Given the description of an element on the screen output the (x, y) to click on. 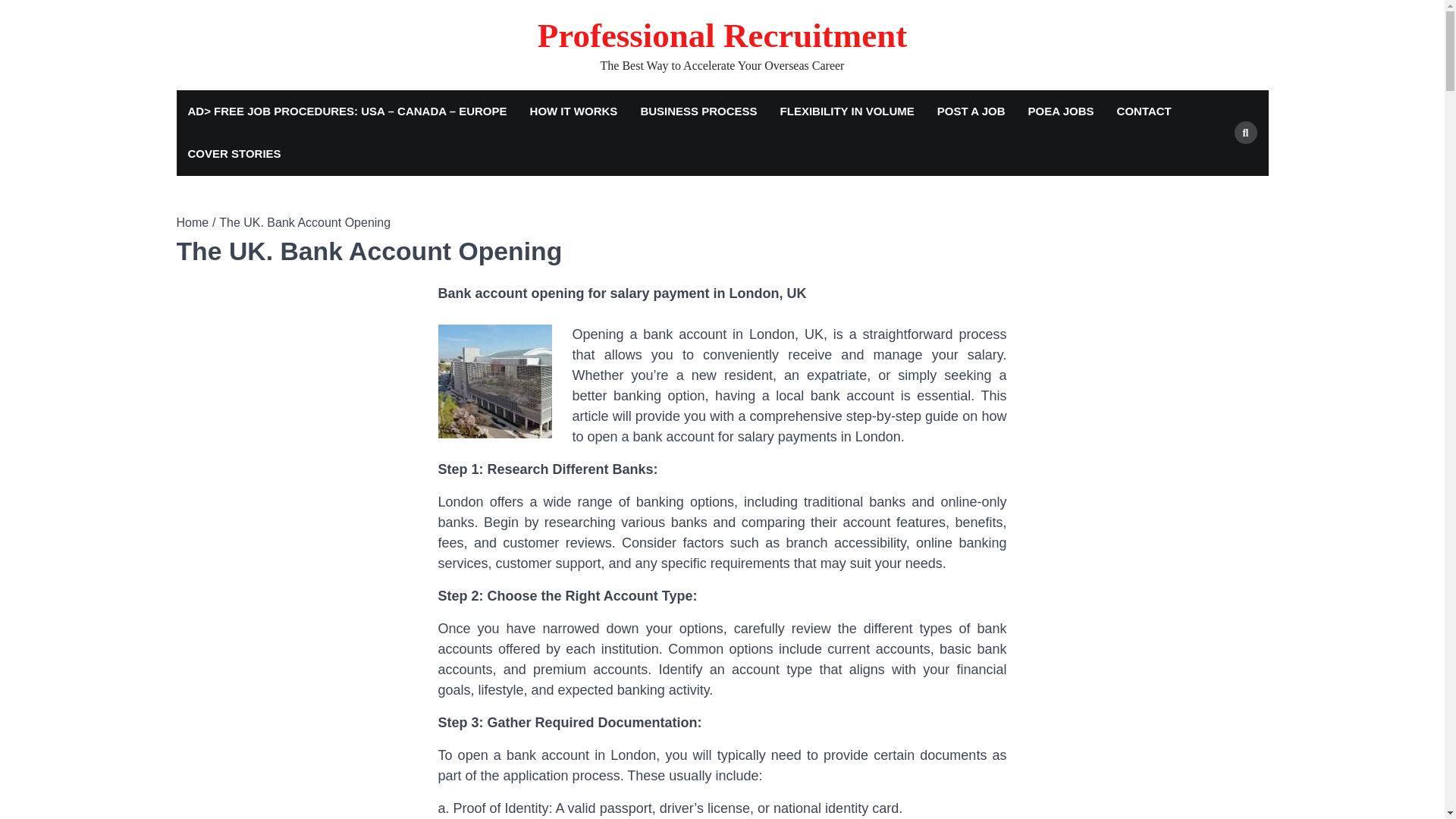
HOW IT WORKS (573, 111)
POST A JOB (971, 111)
COVER STORIES (234, 154)
CONTACT (1143, 111)
Professional Recruitment (722, 35)
FLEXIBILITY IN VOLUME (847, 111)
Search (1217, 167)
Home (192, 222)
BUSINESS PROCESS (698, 111)
POEA JOBS (1060, 111)
